Given the description of an element on the screen output the (x, y) to click on. 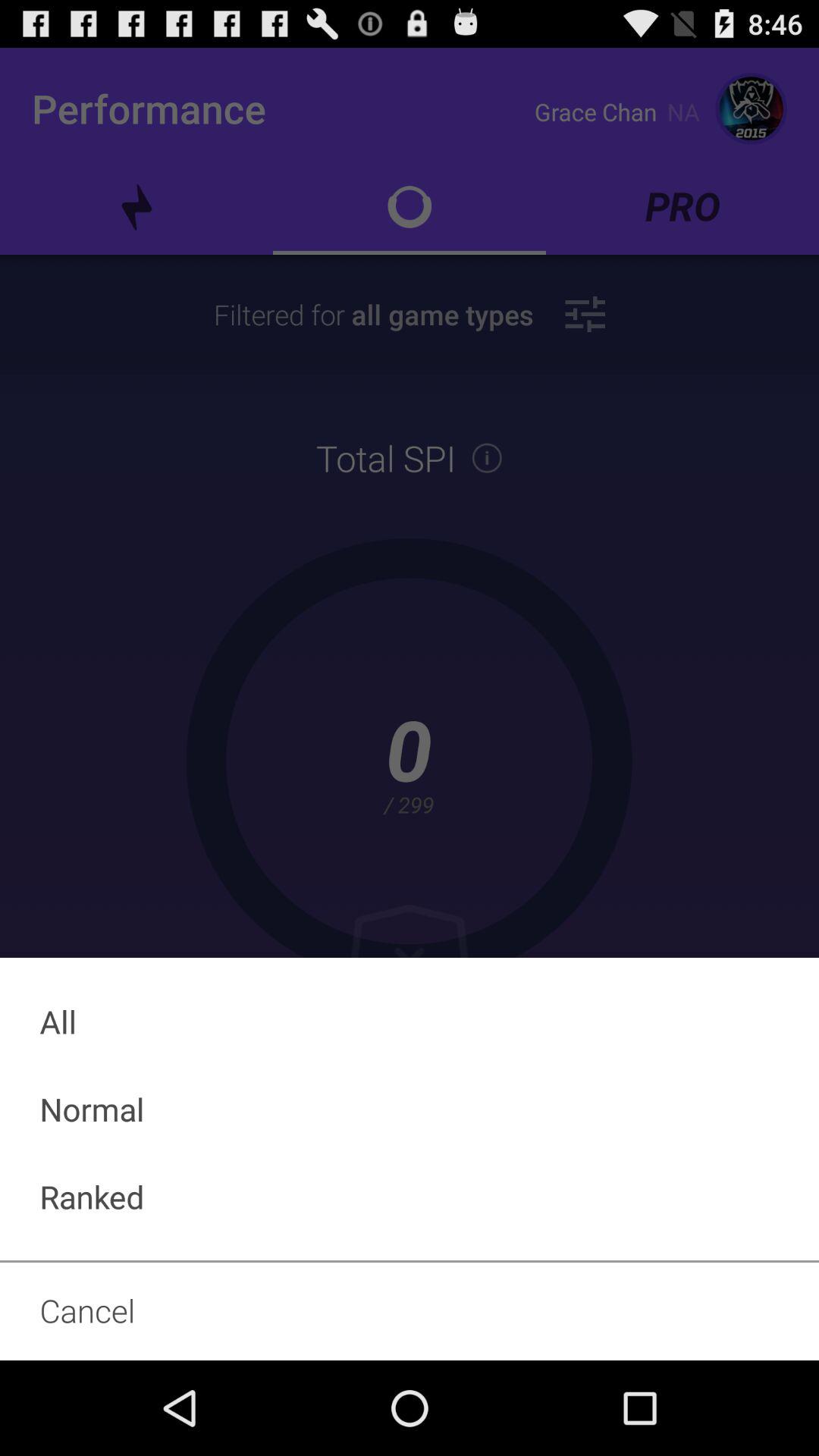
turn on icon below normal icon (409, 1196)
